Given the description of an element on the screen output the (x, y) to click on. 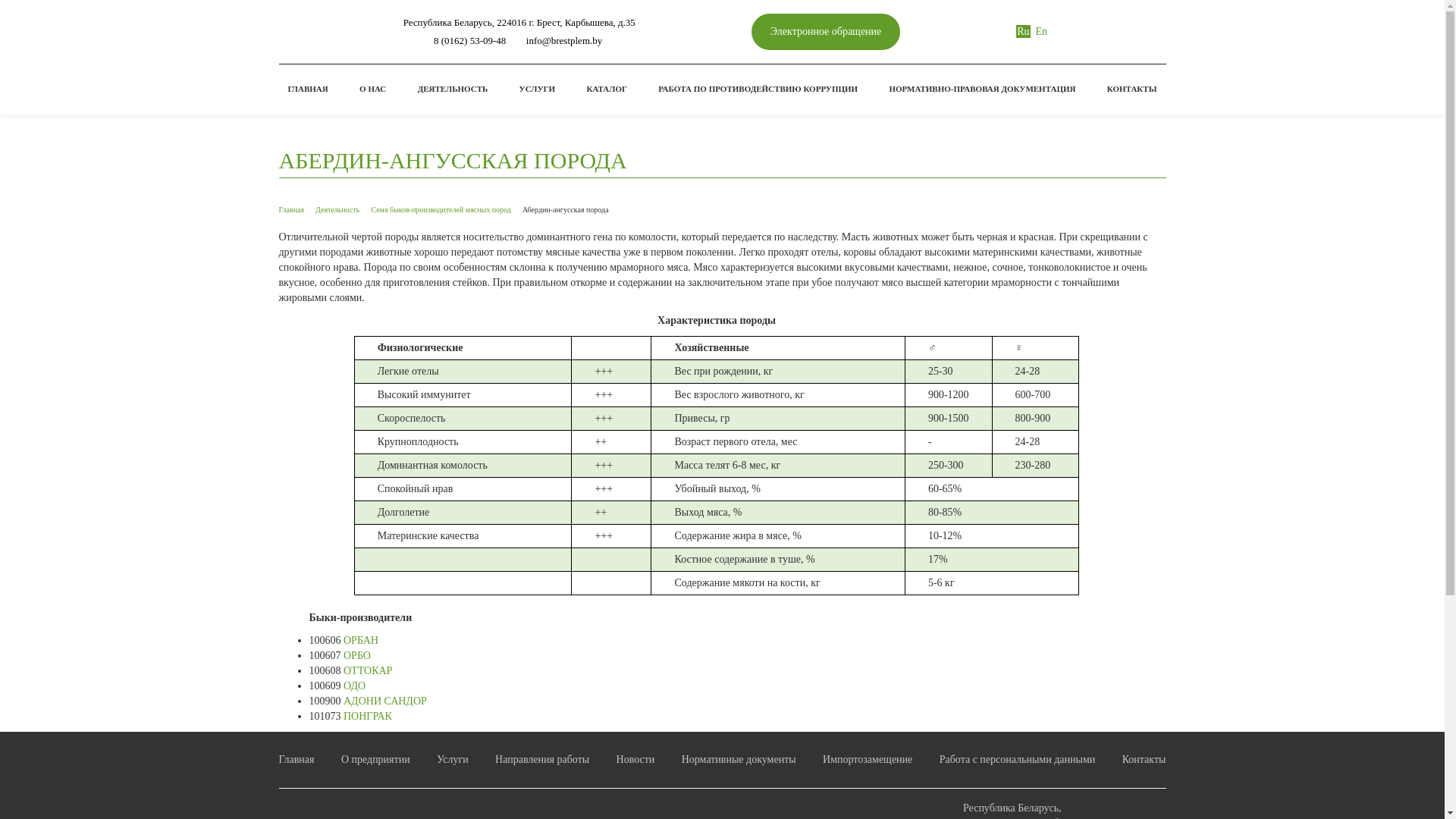
En Element type: text (1041, 31)
